Given the description of an element on the screen output the (x, y) to click on. 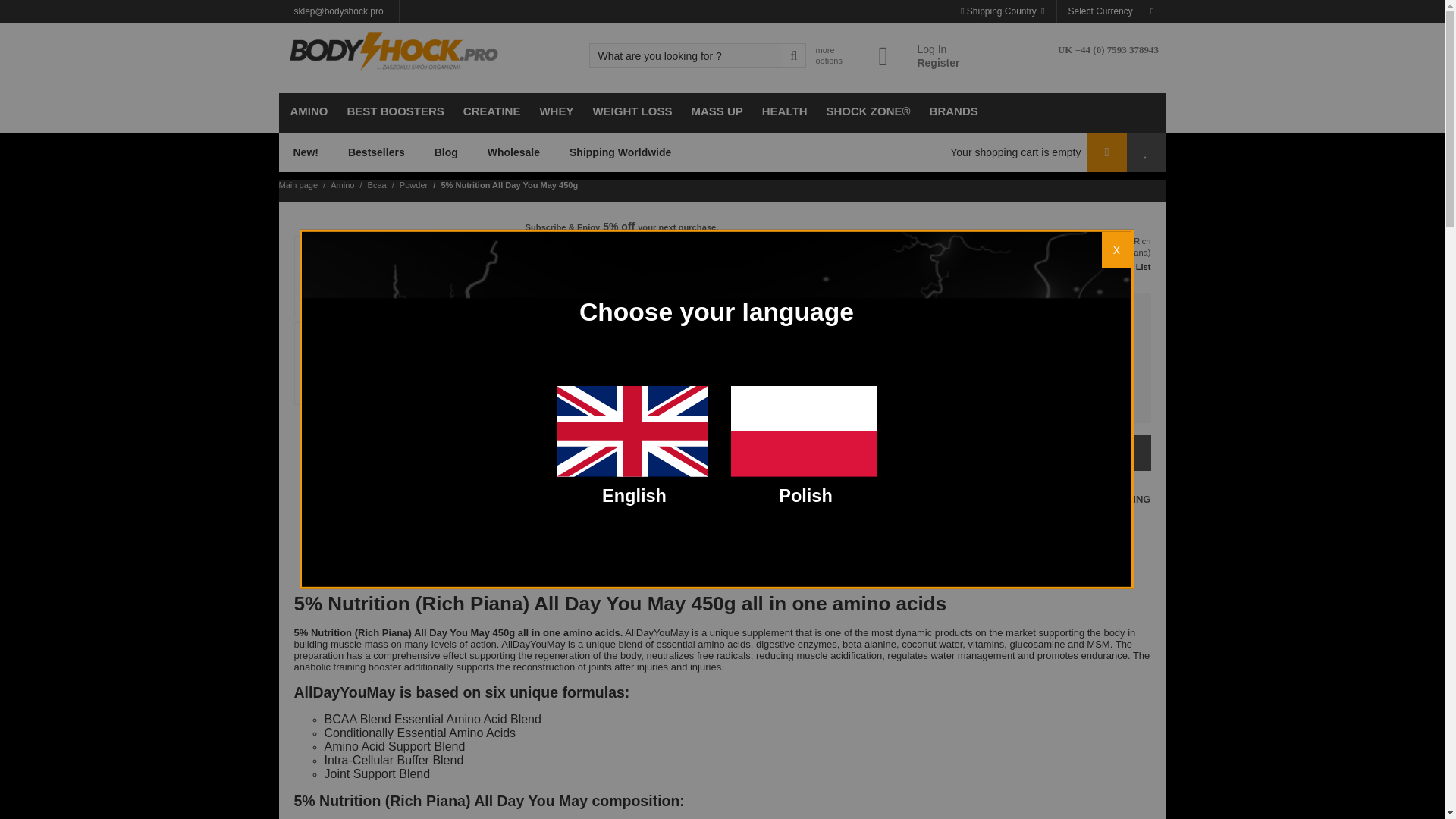
Creatine (489, 112)
Weight Loss (629, 112)
Best Boosters (392, 112)
Mass Up (714, 112)
Register (938, 62)
New! (306, 151)
AMINO (307, 112)
more options (826, 55)
Health (783, 112)
Whey (553, 112)
